Given the description of an element on the screen output the (x, y) to click on. 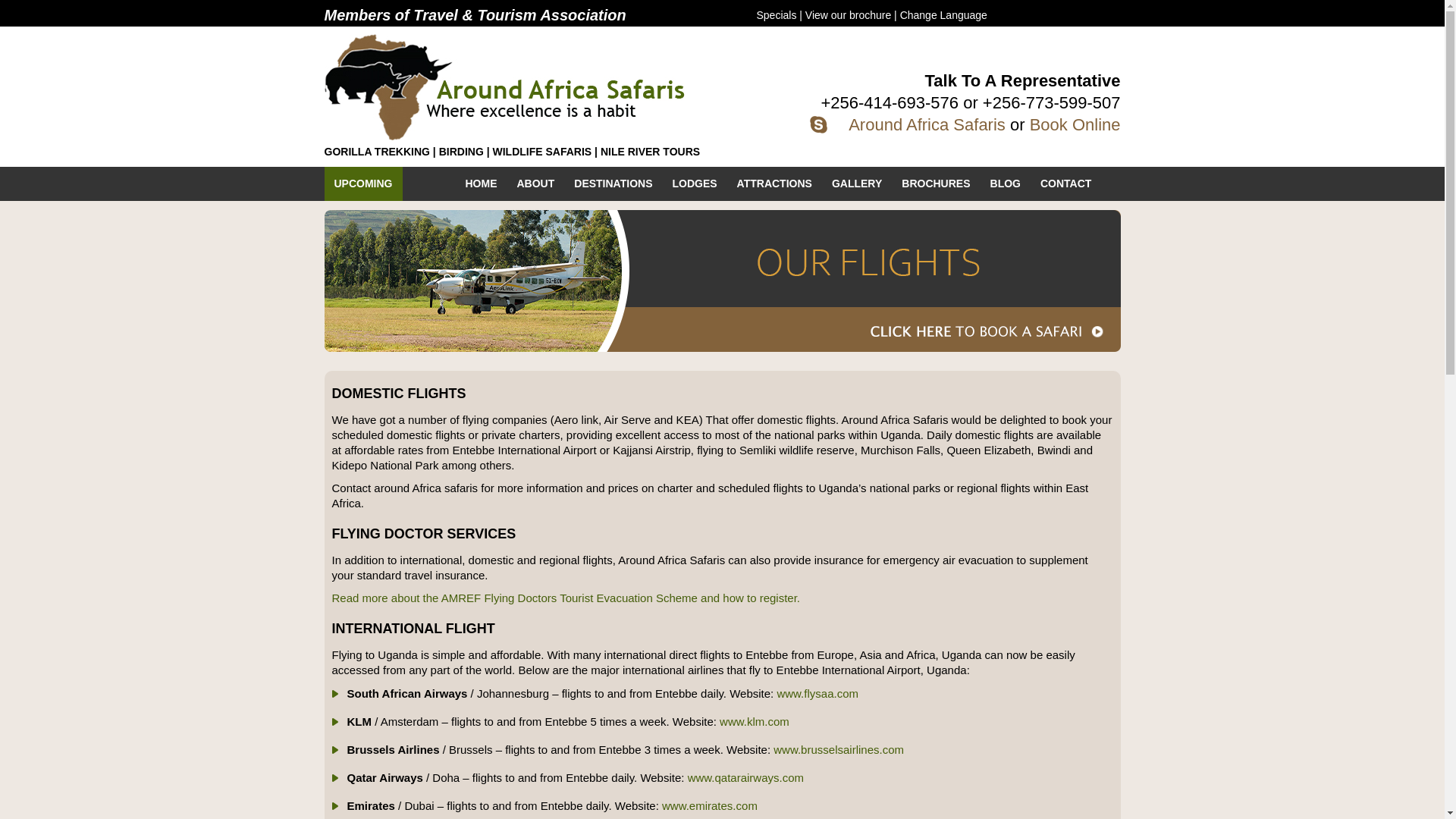
Around Africa Safaris (927, 124)
GALLERY (856, 183)
UPCOMING (363, 183)
ATTRACTIONS (774, 183)
CONTACT (1065, 183)
GORILLA TREKKING (376, 151)
WILDLIFE SAFARIS (542, 151)
Book Online (1075, 124)
ABOUT (535, 183)
